Given the description of an element on the screen output the (x, y) to click on. 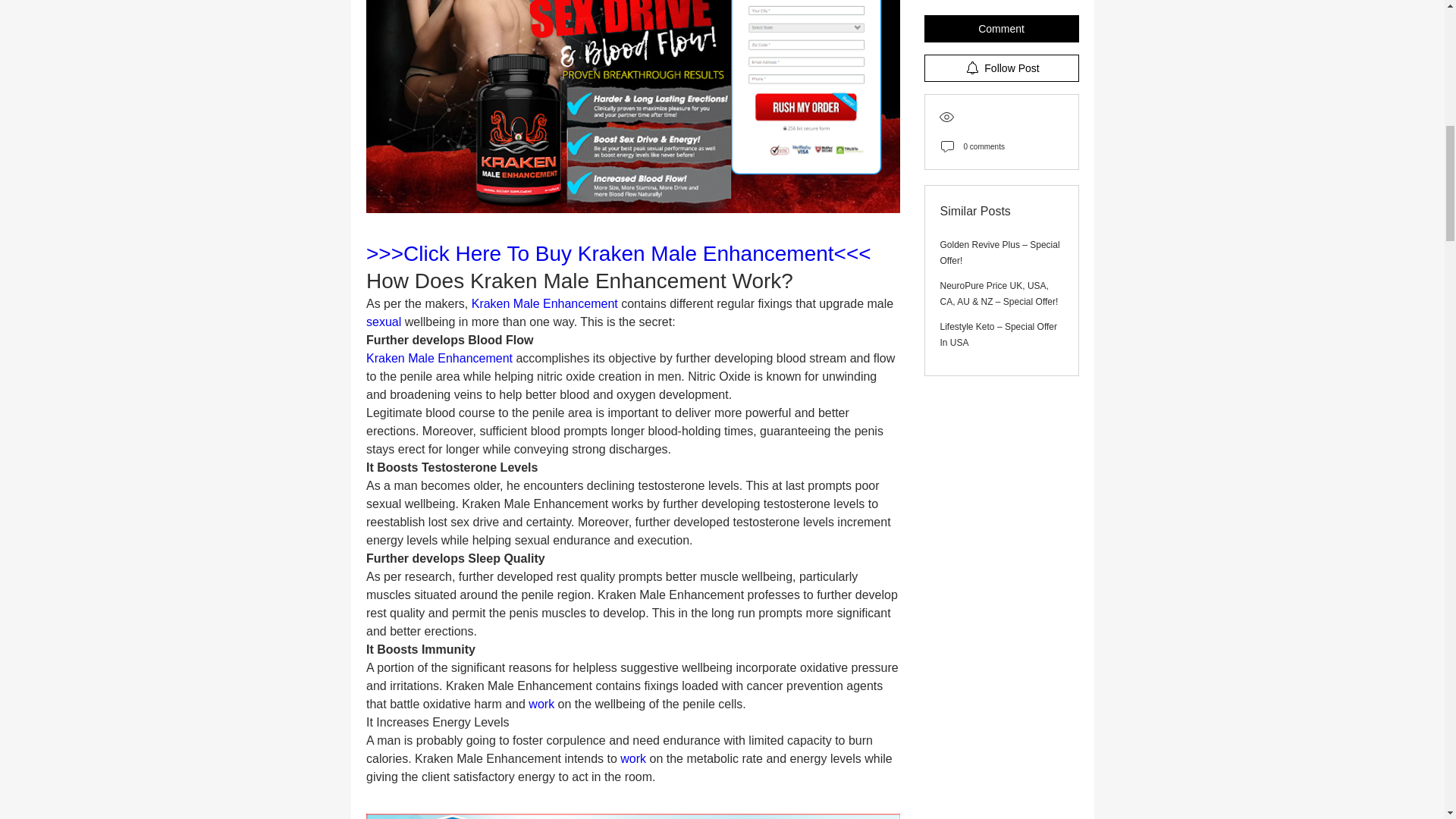
work  (634, 758)
Kraken Male Enhancement (438, 358)
work  (542, 703)
Kraken Male Enhancement (543, 303)
sexual  (384, 321)
